Given the description of an element on the screen output the (x, y) to click on. 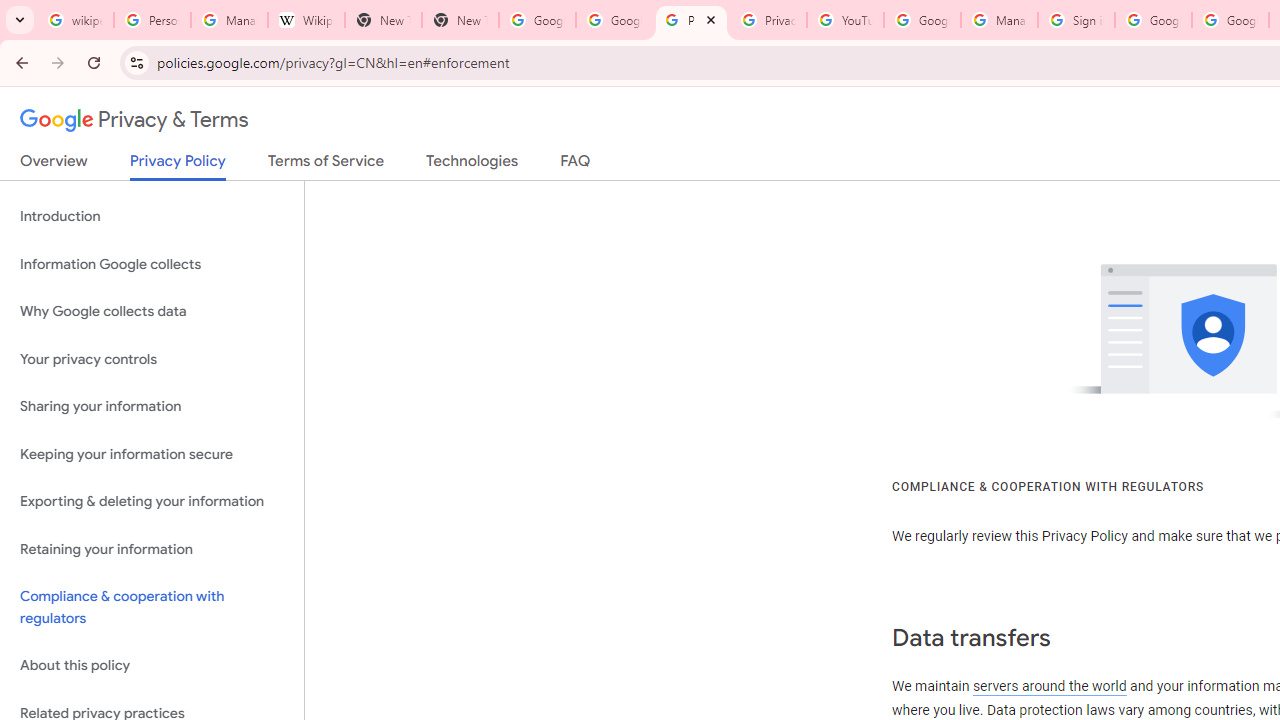
Google Account Help (922, 20)
Sign in - Google Accounts (1076, 20)
Introduction (152, 216)
Personalization & Google Search results - Google Search Help (151, 20)
servers around the world (1048, 686)
About this policy (152, 666)
Information Google collects (152, 263)
FAQ (575, 165)
YouTube (845, 20)
Google Drive: Sign-in (614, 20)
Technologies (472, 165)
